Given the description of an element on the screen output the (x, y) to click on. 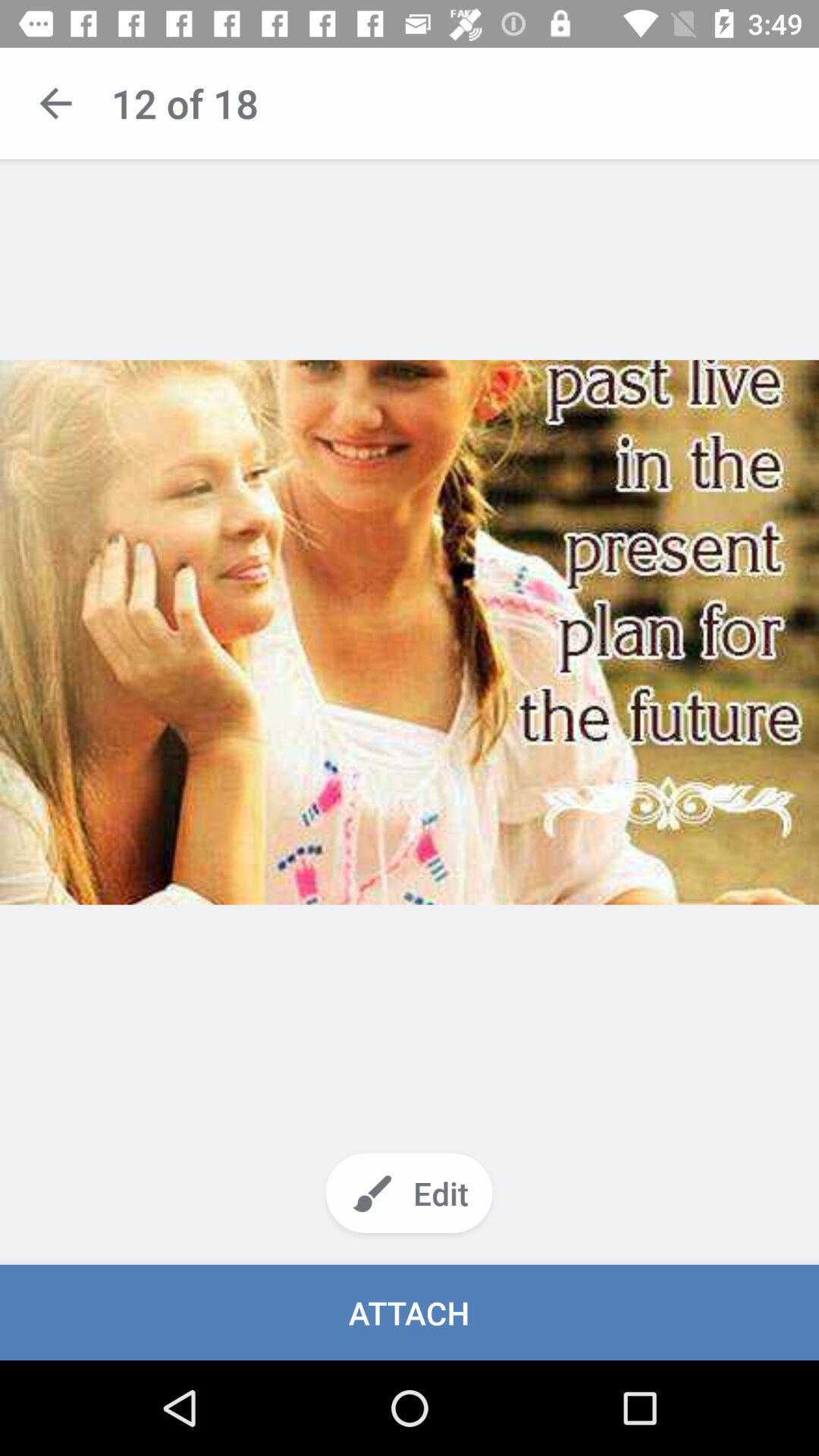
go back (55, 103)
